Given the description of an element on the screen output the (x, y) to click on. 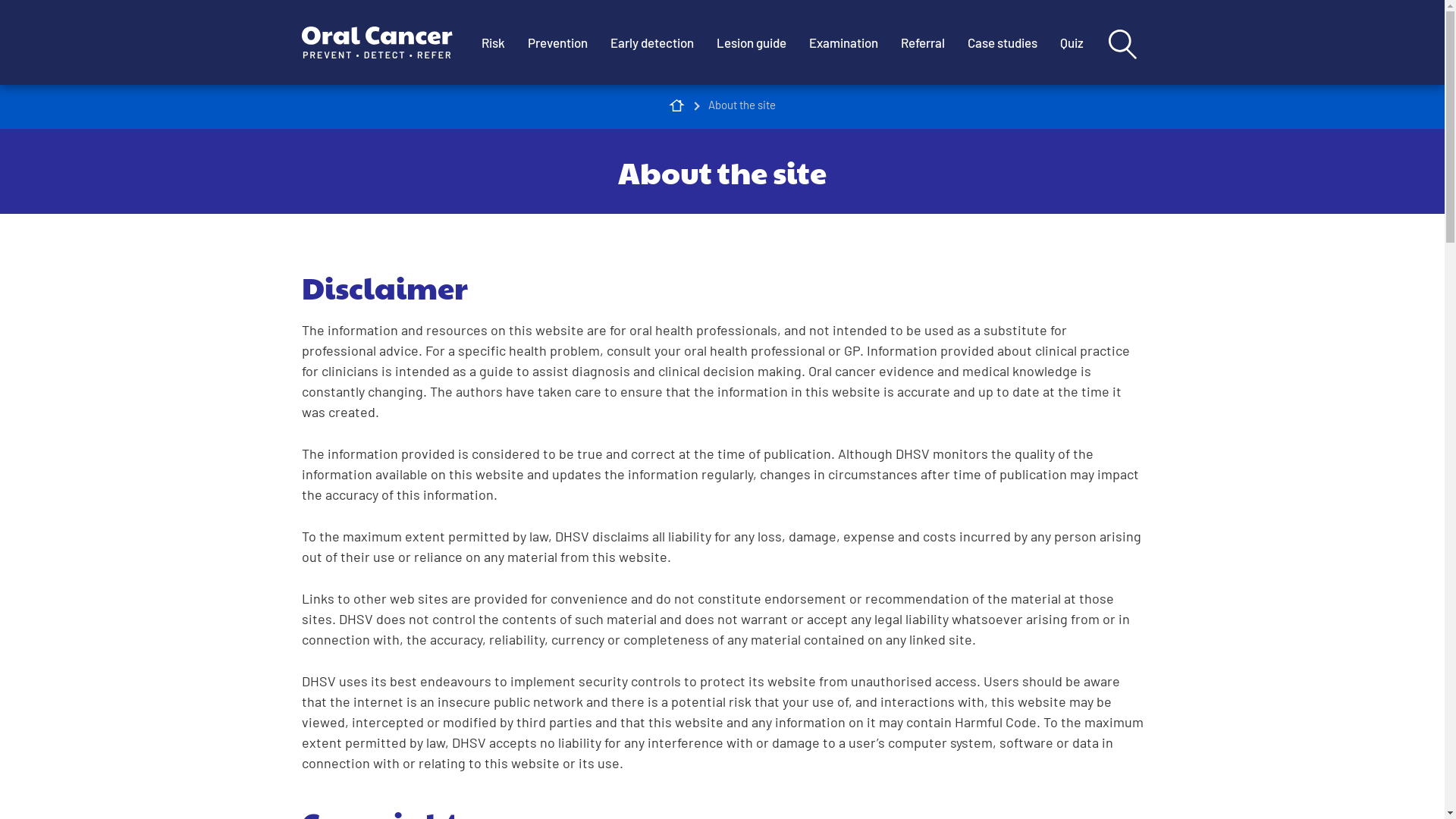
Quiz Element type: text (1071, 42)
Prevention Element type: text (556, 42)
Early detection Element type: text (652, 42)
Home Page Element type: text (676, 104)
Risk Element type: text (493, 42)
Referral Element type: text (921, 42)
Lesion guide Element type: text (751, 42)
Open/Close Search Field Element type: text (1122, 43)
Home Element type: text (385, 42)
Examination Element type: text (843, 42)
Case studies Element type: text (1001, 42)
